Given the description of an element on the screen output the (x, y) to click on. 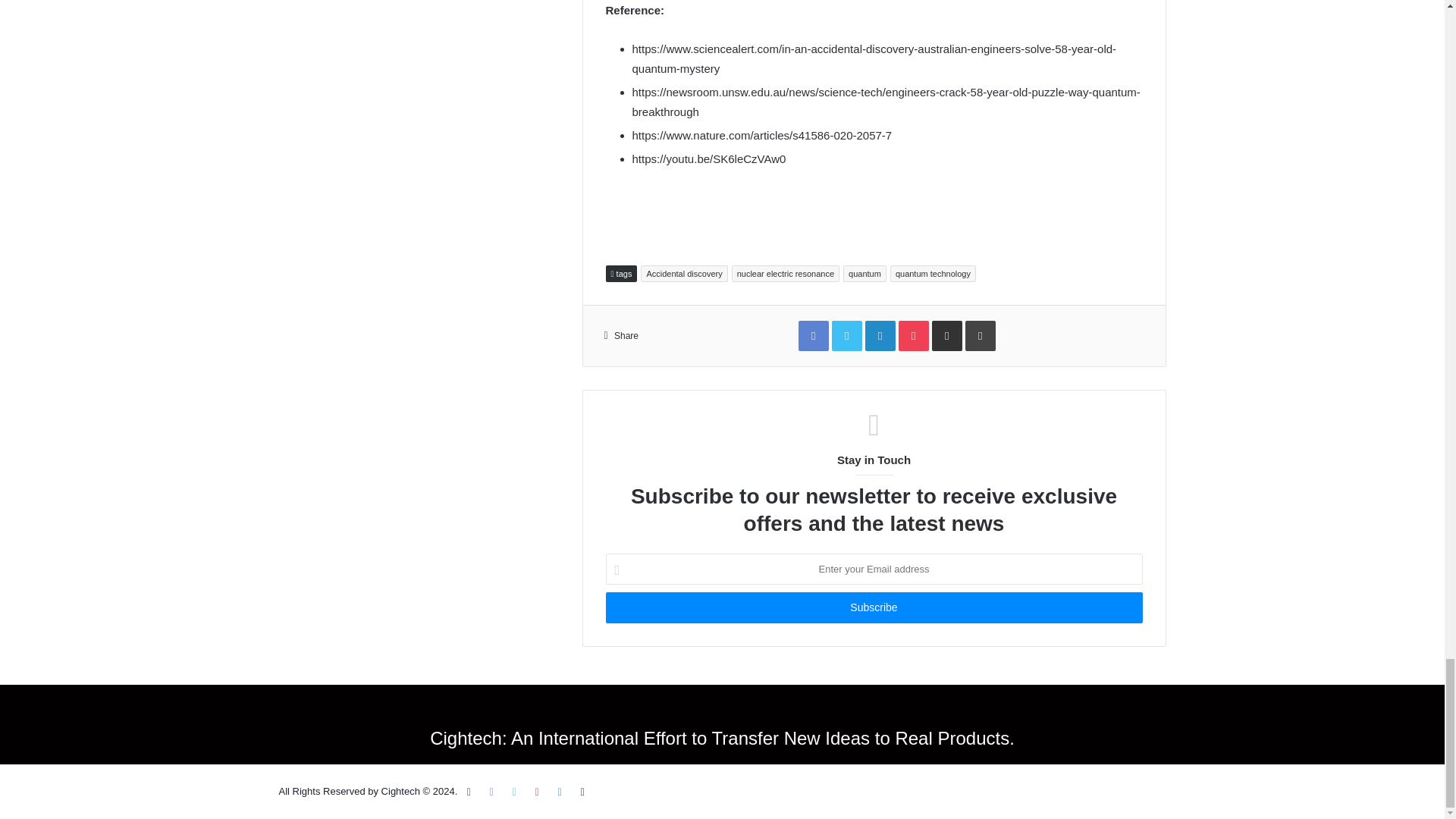
Twitter (513, 791)
LinkedIn (559, 791)
Pinterest (536, 791)
Facebook (491, 791)
Subscribe (873, 607)
